Given the description of an element on the screen output the (x, y) to click on. 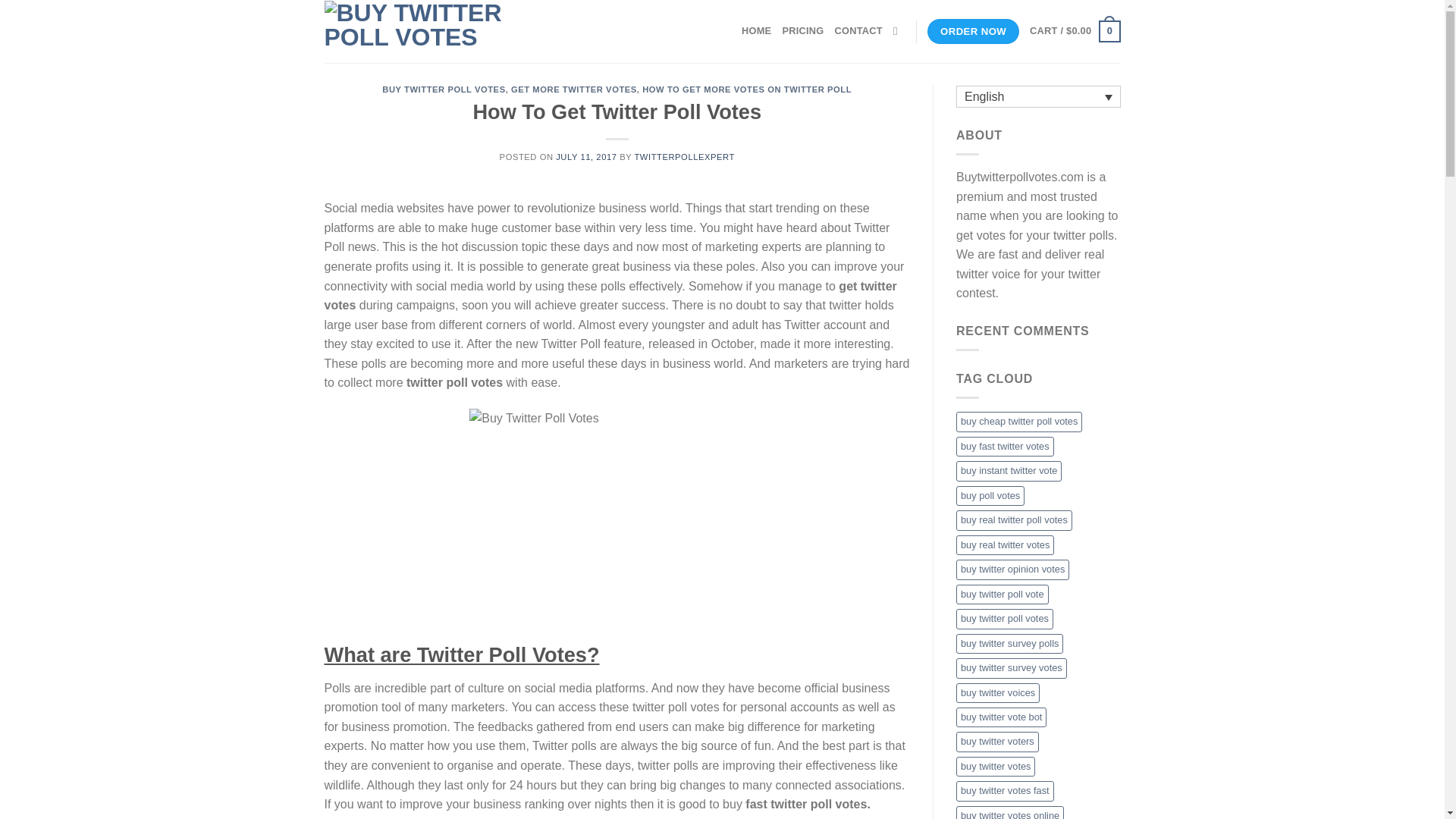
buy fast twitter votes (1005, 446)
buy real twitter votes (1005, 545)
buy real twitter poll votes (1013, 519)
Cart (1074, 31)
TWITTERPOLLEXPERT (683, 156)
English (1038, 96)
Buy Twitter Poll Votes - Buy Polls For Twitter Contest (415, 31)
BUY TWITTER POLL VOTES (443, 89)
HOW TO GET MORE VOTES ON TWITTER POLL (746, 89)
HOME (756, 30)
buy poll votes (990, 496)
buy instant twitter vote (1008, 470)
CONTACT (858, 30)
PRICING (802, 30)
buy cheap twitter poll votes (1018, 421)
